Given the description of an element on the screen output the (x, y) to click on. 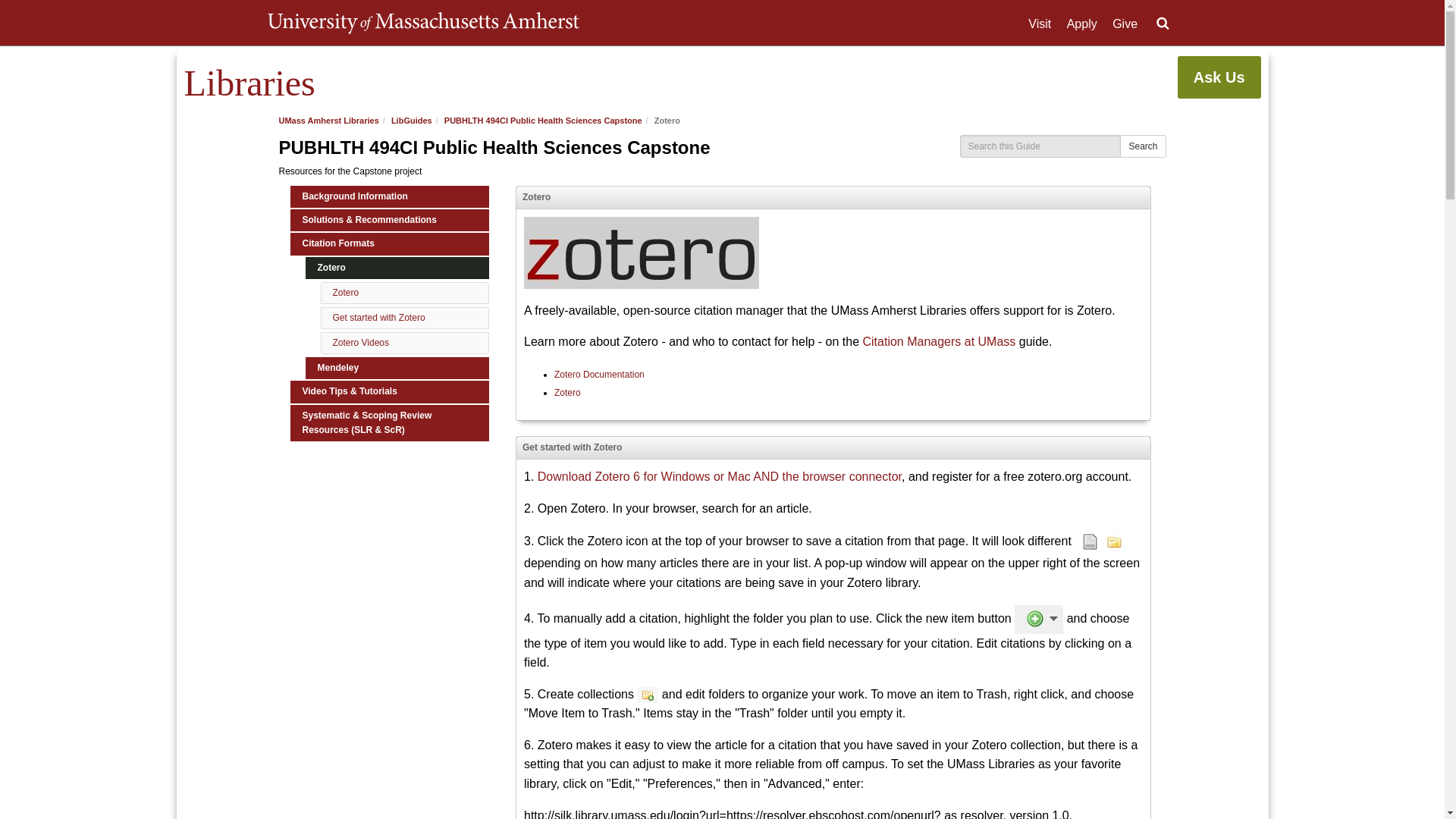
Ask Us (1218, 77)
Mendeley (396, 368)
Give (1124, 24)
Zotero (567, 392)
Citation Managers at UMass (937, 341)
Background Information (389, 196)
Get started with Zotero (378, 317)
The University of Massachusetts Amherst (422, 22)
UMass Amherst (422, 22)
PUBHLTH 494CI Public Health Sciences Capstone (543, 120)
Citation Formats (389, 243)
Search UMass.edu (1161, 23)
Zotero Videos (359, 342)
UMass Amherst Libraries (328, 120)
Libraries (248, 83)
